Given the description of an element on the screen output the (x, y) to click on. 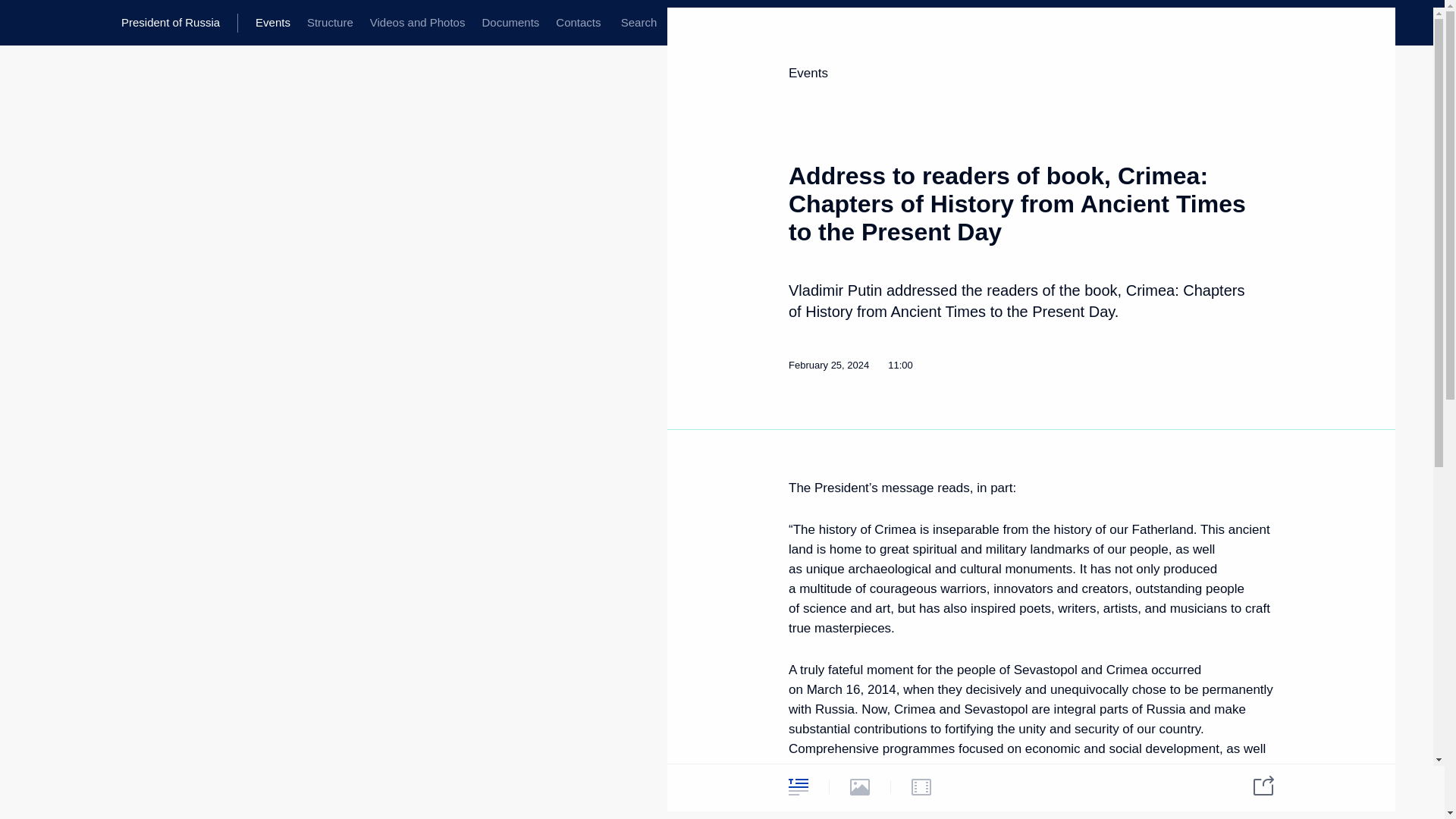
Portal Menu (24, 22)
Events (808, 73)
Structure (329, 22)
Photos (859, 786)
Global website search (638, 22)
Search (638, 22)
Contacts (577, 22)
President of Russia (179, 22)
Video (921, 786)
Events (272, 22)
Documents (510, 22)
Share (1253, 784)
Videos and Photos (417, 22)
Text (798, 786)
